Given the description of an element on the screen output the (x, y) to click on. 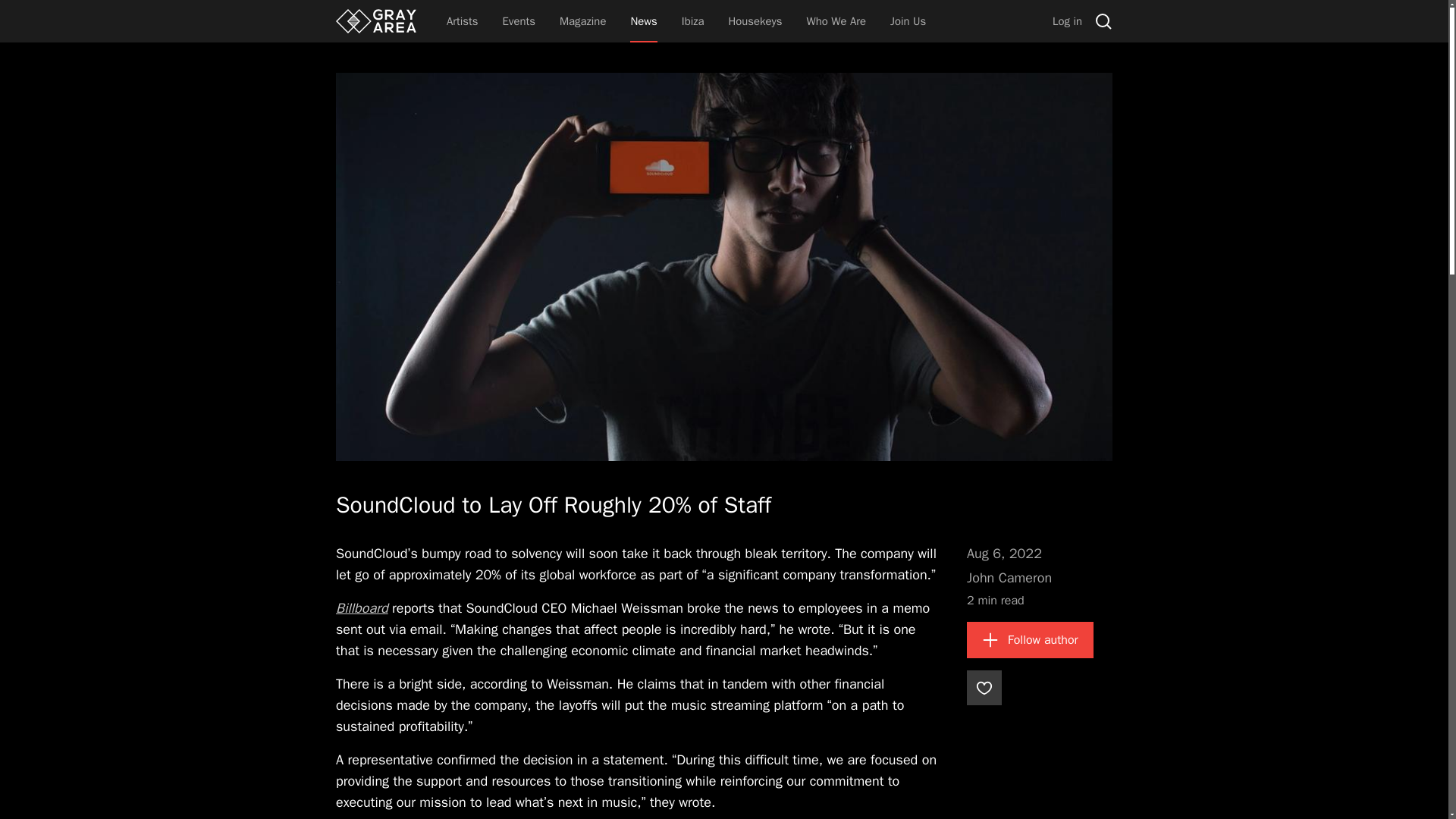
Magazine (583, 21)
Housekeys (754, 21)
Who We Are (836, 21)
Follow author (1029, 639)
Billboard (362, 607)
John Cameron (1008, 577)
